Given the description of an element on the screen output the (x, y) to click on. 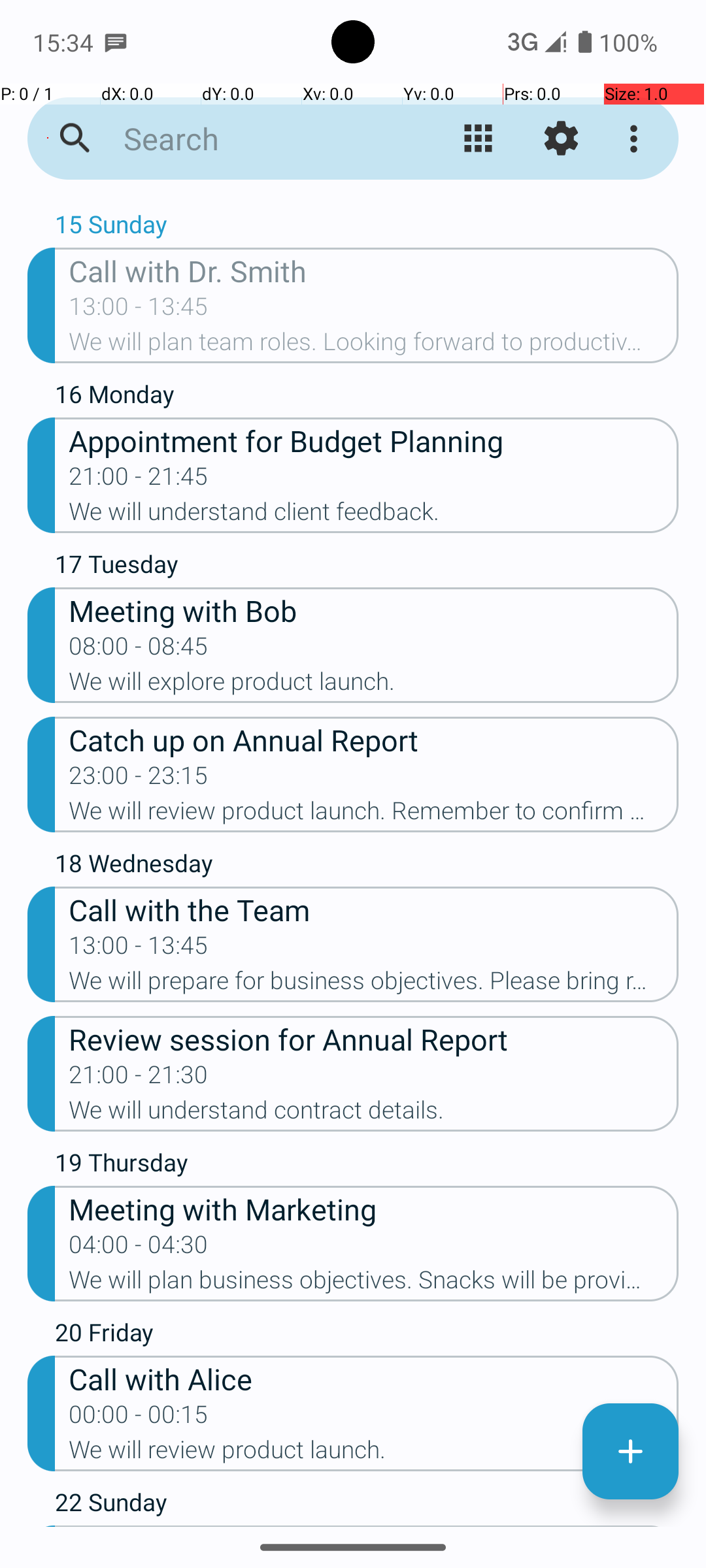
OCTOBER Element type: android.widget.TextView (353, 200)
15 Sunday Element type: android.widget.TextView (366, 227)
16 Monday Element type: android.widget.TextView (366, 396)
17 Tuesday Element type: android.widget.TextView (366, 566)
18 Wednesday Element type: android.widget.TextView (366, 866)
19 Thursday Element type: android.widget.TextView (366, 1165)
20 Friday Element type: android.widget.TextView (366, 1335)
22 Sunday Element type: android.widget.TextView (366, 1505)
Call with Dr. Smith Element type: android.widget.TextView (373, 269)
13:00 - 13:45 Element type: android.widget.TextView (137, 309)
We will plan team roles. Looking forward to productive discussions. Element type: android.widget.TextView (373, 345)
Appointment for Budget Planning Element type: android.widget.TextView (373, 439)
21:00 - 21:45 Element type: android.widget.TextView (137, 479)
We will understand client feedback. Element type: android.widget.TextView (373, 515)
Meeting with Bob Element type: android.widget.TextView (373, 609)
08:00 - 08:45 Element type: android.widget.TextView (137, 649)
We will explore product launch. Element type: android.widget.TextView (373, 684)
Catch up on Annual Report Element type: android.widget.TextView (373, 738)
23:00 - 23:15 Element type: android.widget.TextView (137, 779)
We will review product launch. Remember to confirm attendance. Element type: android.widget.TextView (373, 814)
Call with the Team Element type: android.widget.TextView (373, 908)
We will prepare for business objectives. Please bring relevant documents. Element type: android.widget.TextView (373, 984)
Review session for Annual Report Element type: android.widget.TextView (373, 1038)
21:00 - 21:30 Element type: android.widget.TextView (137, 1078)
We will understand contract details. Element type: android.widget.TextView (373, 1113)
Meeting with Marketing Element type: android.widget.TextView (373, 1207)
04:00 - 04:30 Element type: android.widget.TextView (137, 1248)
We will plan business objectives. Snacks will be provided. Element type: android.widget.TextView (373, 1283)
Call with Alice Element type: android.widget.TextView (373, 1377)
00:00 - 00:15 Element type: android.widget.TextView (137, 1418)
We will review product launch. Element type: android.widget.TextView (373, 1453)
Catch up on Campaign Element type: android.widget.TextView (373, 1525)
